Given the description of an element on the screen output the (x, y) to click on. 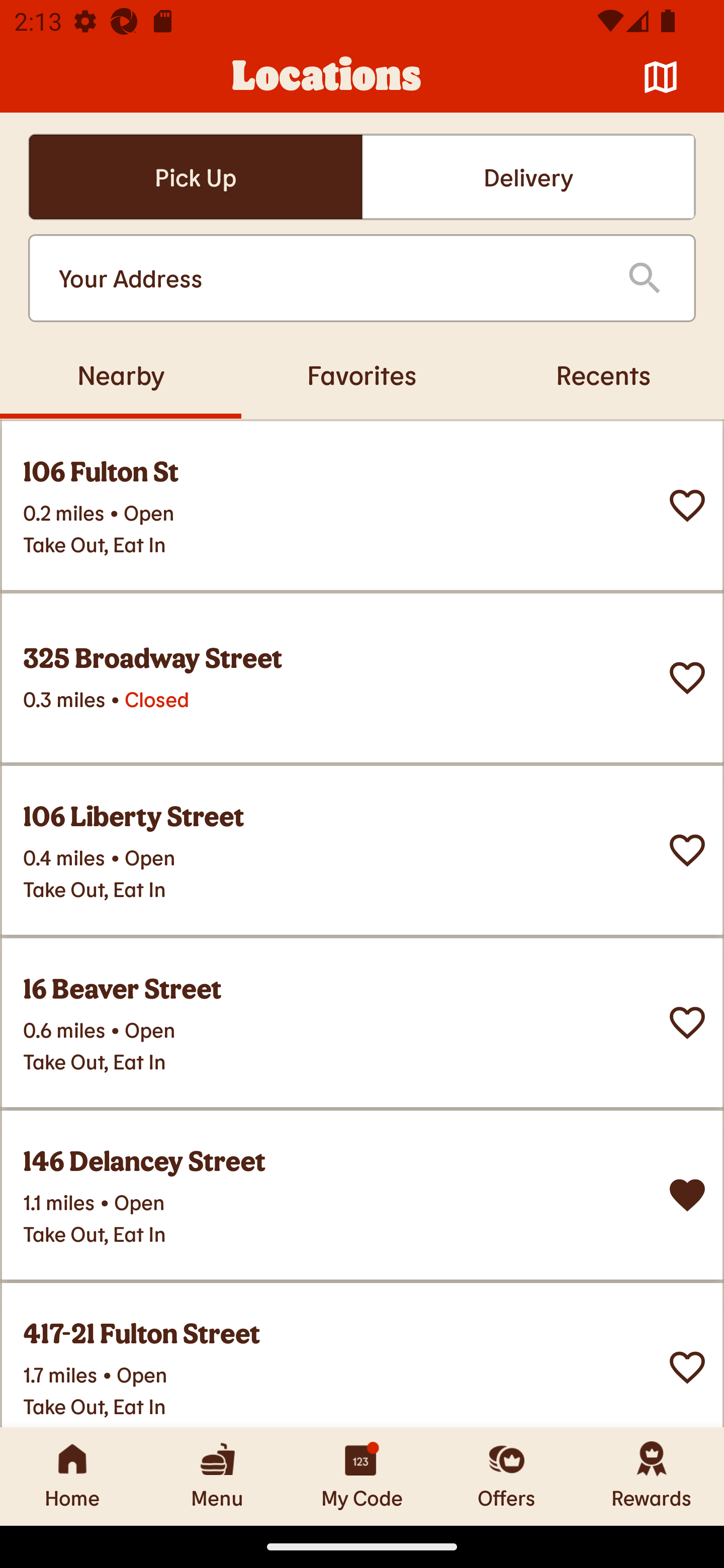
Map 󰦂 (660, 77)
Locations (326, 77)
Pick UpSelected Pick UpSelected Pick Up (195, 176)
Delivery Delivery Delivery (528, 176)
Your Address (327, 277)
Nearby (120, 374)
Favorites (361, 374)
Recents (603, 374)
Set this restaurant as a favorite  (687, 505)
Set this restaurant as a favorite  (687, 677)
Set this restaurant as a favorite  (687, 850)
Set this restaurant as a favorite  (687, 1022)
Remove from Favorites?  (687, 1195)
Set this restaurant as a favorite  (687, 1367)
Home (72, 1475)
Menu (216, 1475)
My Code (361, 1475)
Offers (506, 1475)
Rewards (651, 1475)
